Given the description of an element on the screen output the (x, y) to click on. 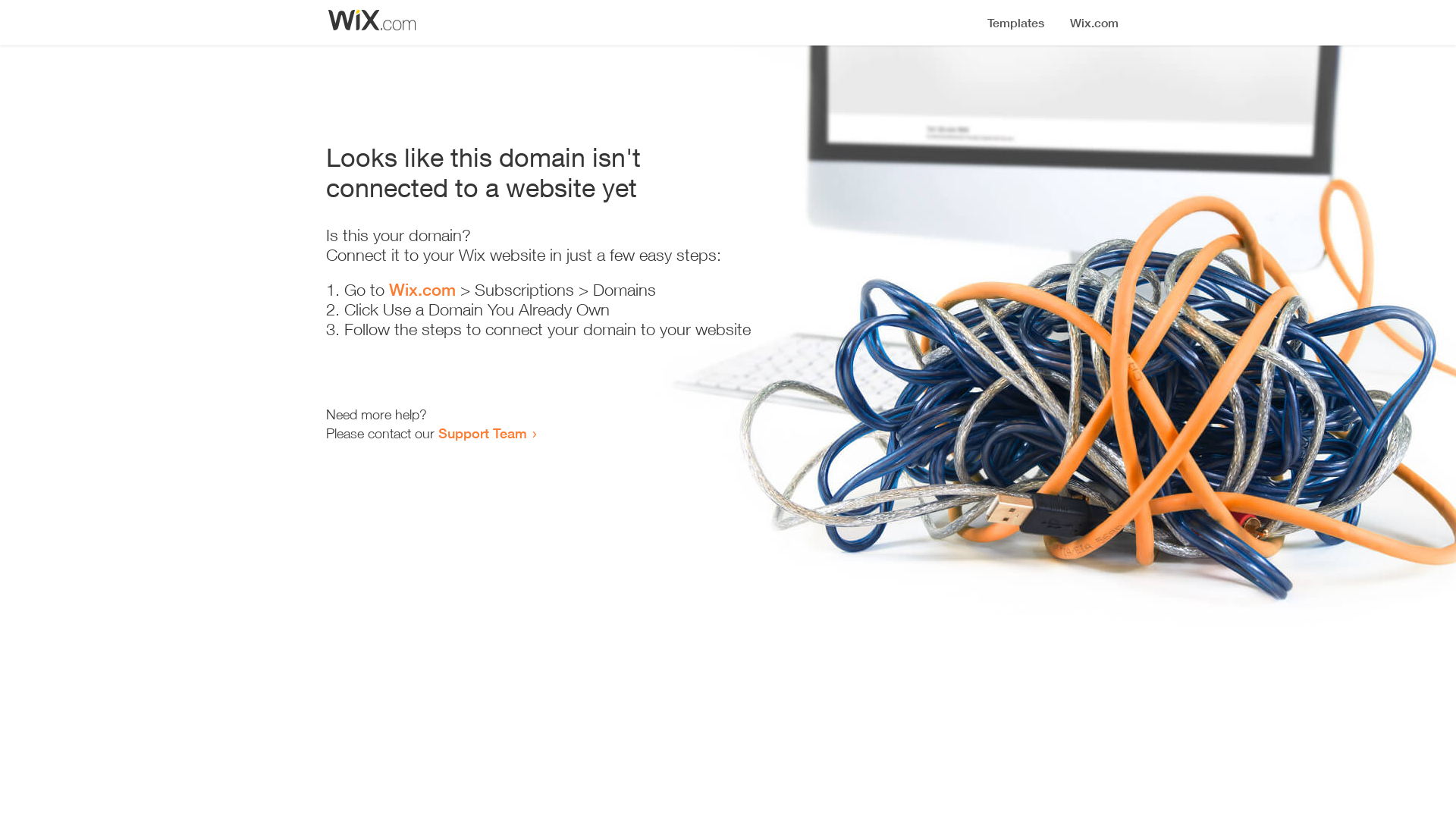
Support Team Element type: text (482, 432)
Wix.com Element type: text (422, 289)
